Given the description of an element on the screen output the (x, y) to click on. 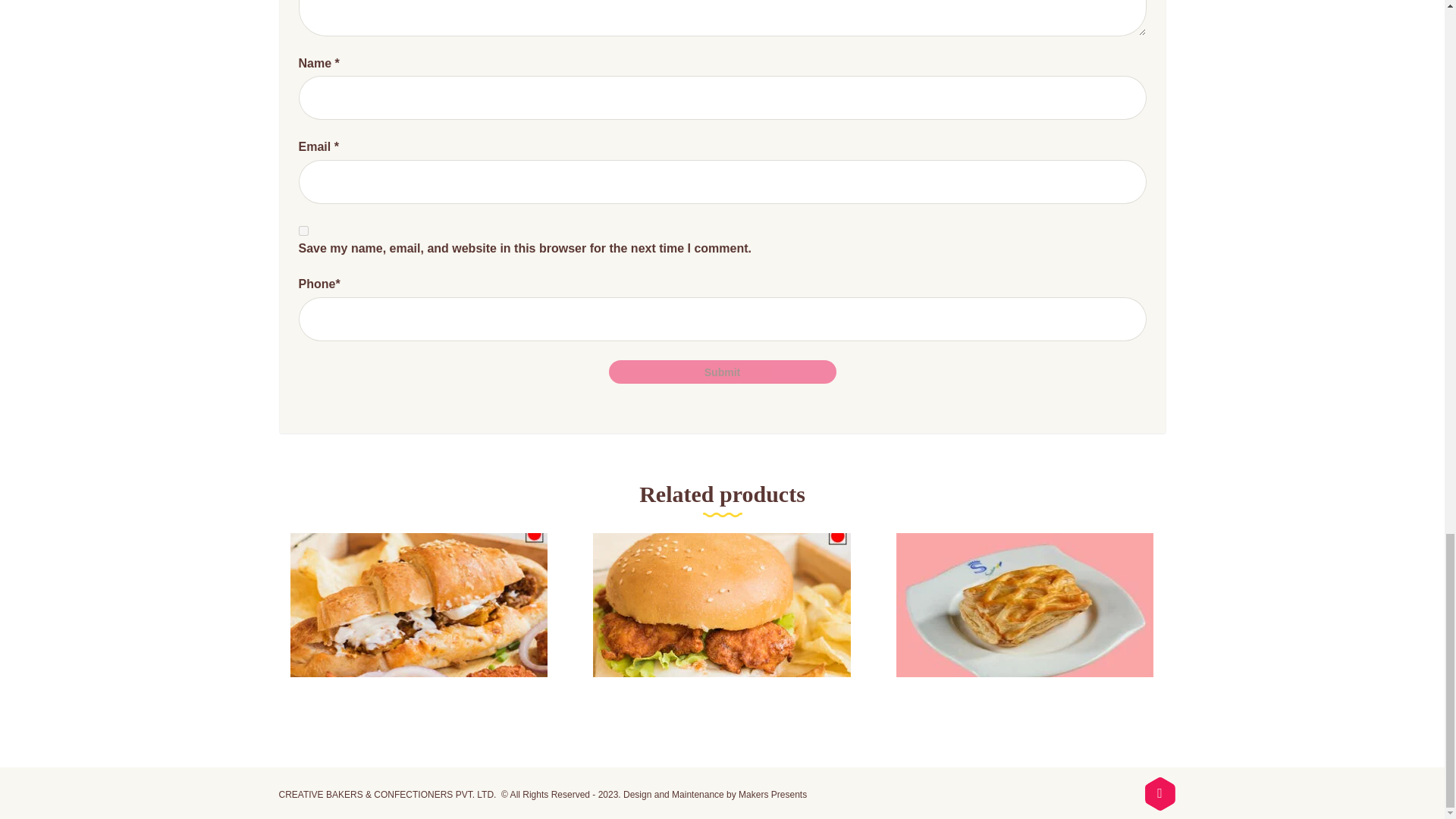
Submit (721, 372)
Chicken Tikka Croissant (418, 627)
yes (303, 230)
Submit (721, 372)
Super Chicken Burger (721, 627)
